Given the description of an element on the screen output the (x, y) to click on. 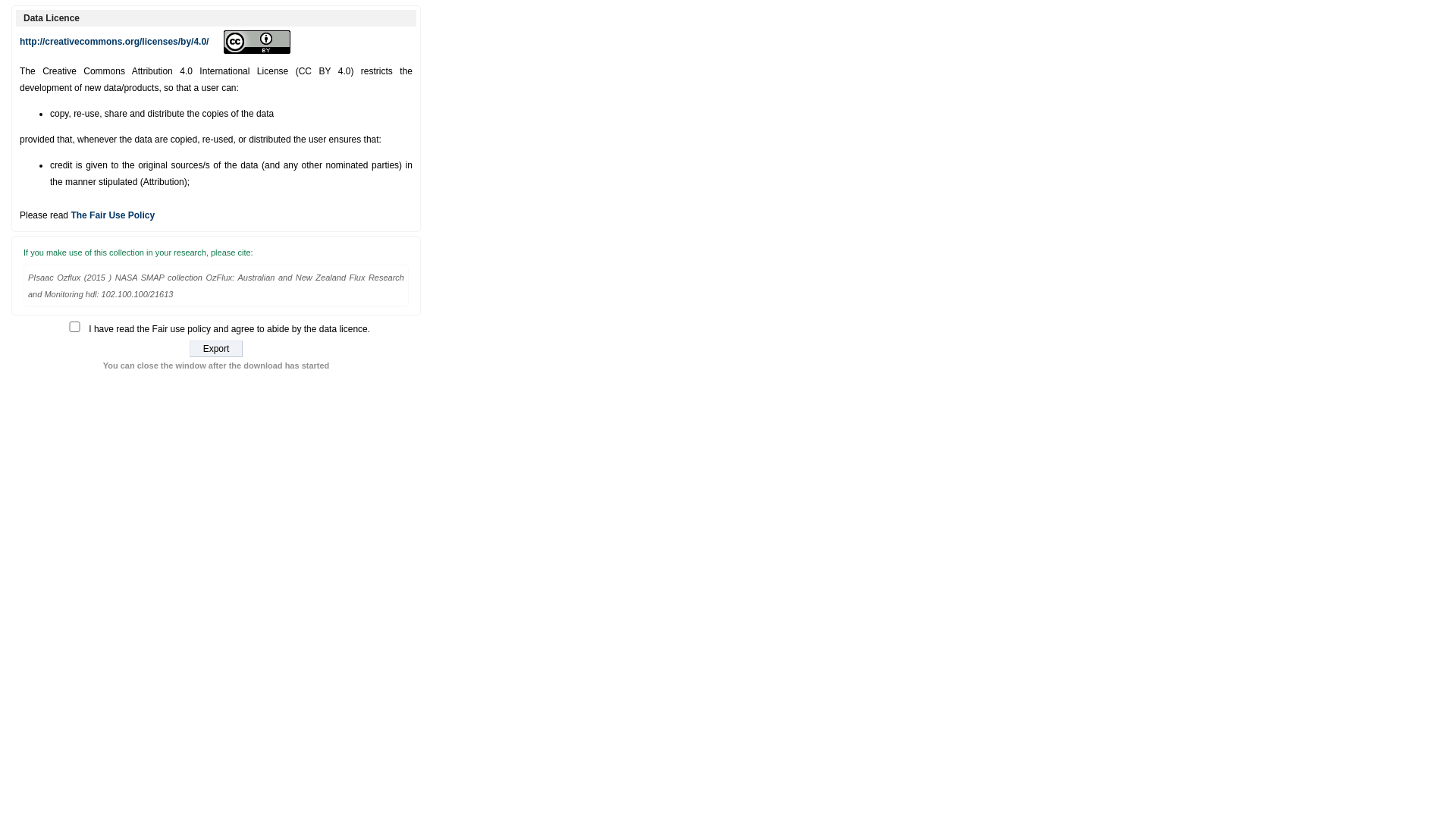
Export Element type: text (215, 348)
The Fair Use Policy Element type: text (112, 215)
http://creativecommons.org/licenses/by/4.0/ Element type: text (113, 41)
